Given the description of an element on the screen output the (x, y) to click on. 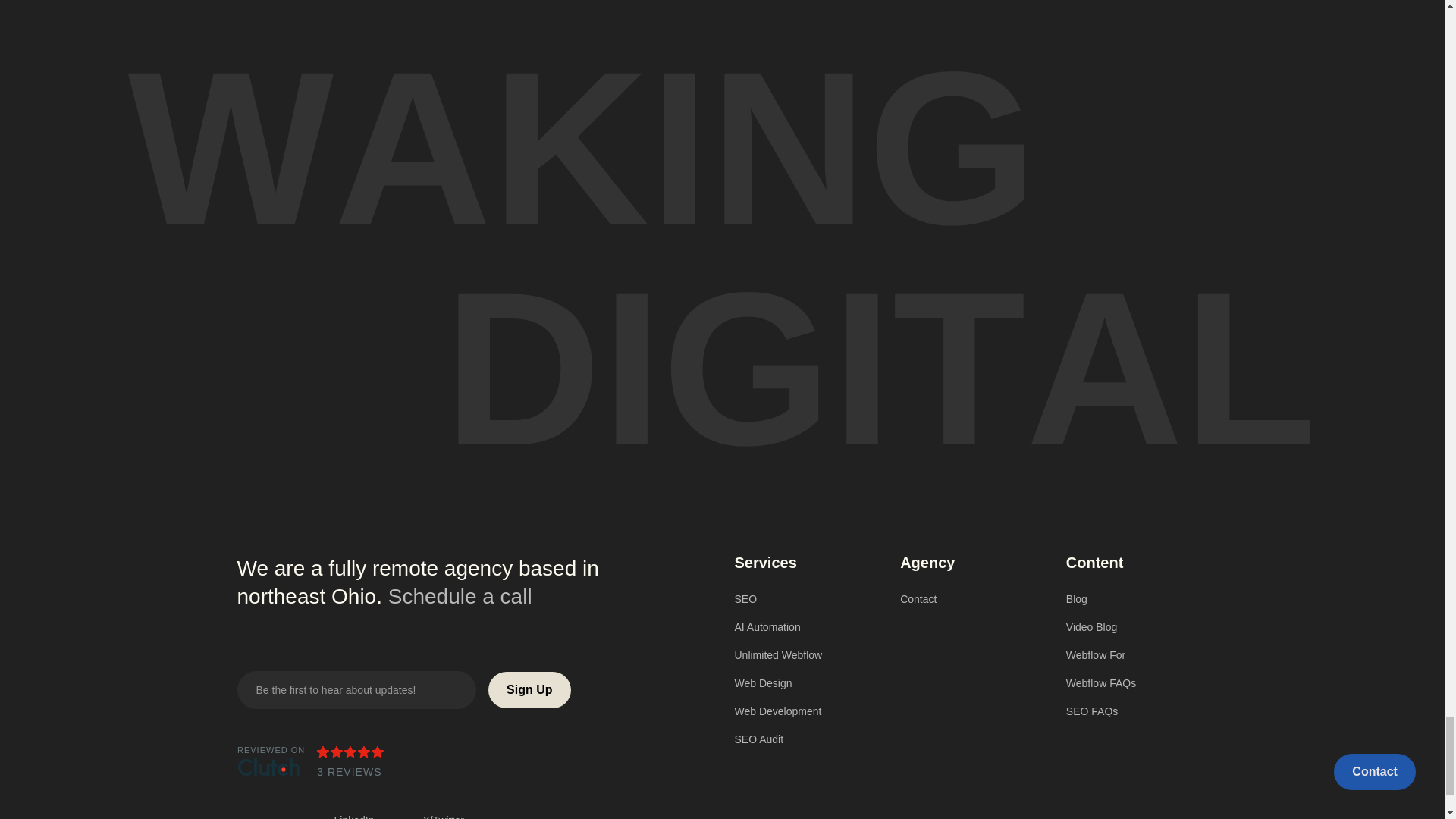
Schedule a call (460, 596)
LinkedIn (362, 816)
Sign Up (528, 689)
Sign Up (528, 689)
AI Automation (804, 627)
SEO (804, 599)
